Given the description of an element on the screen output the (x, y) to click on. 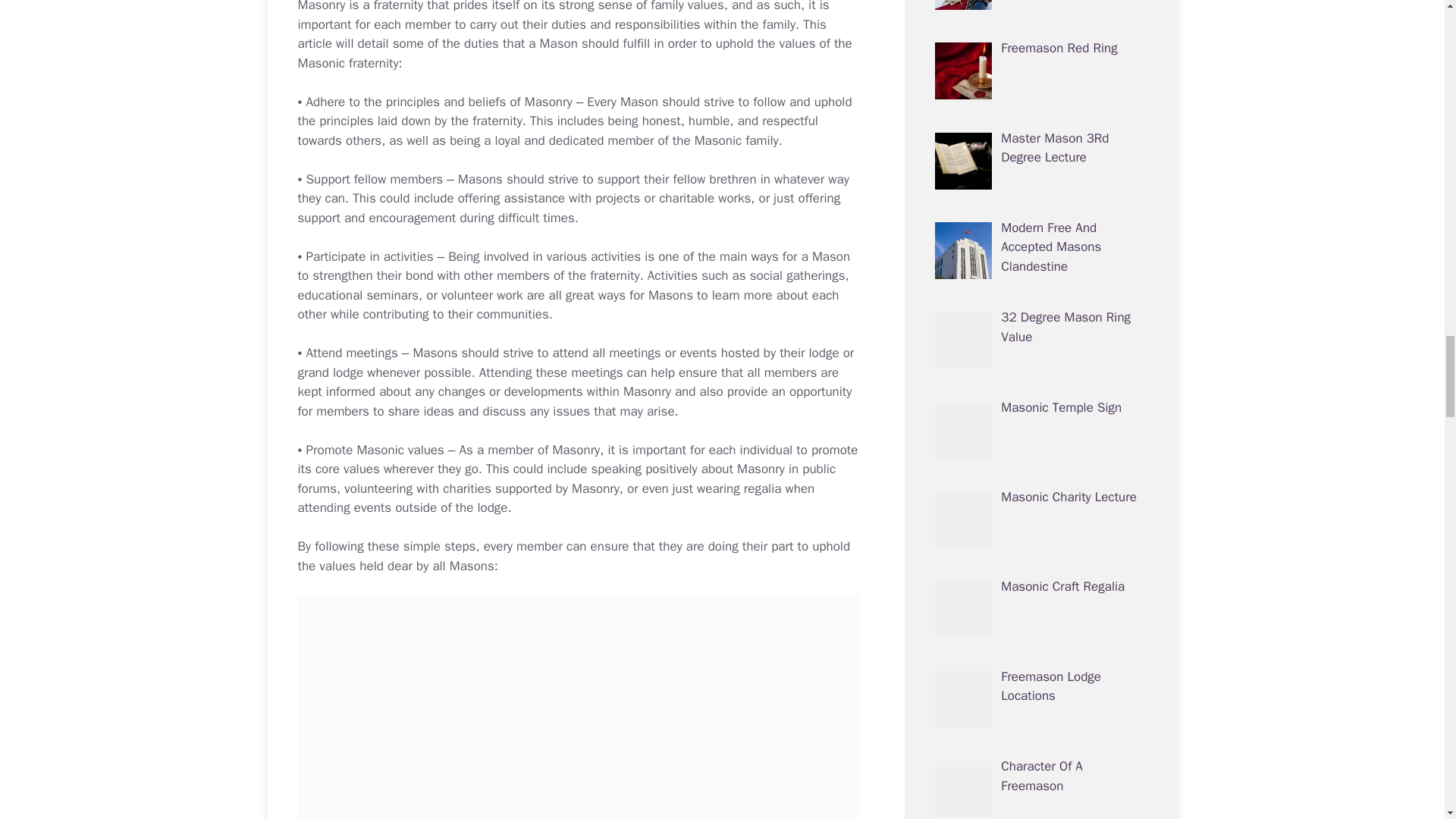
Mason Fraternity Ring (349, 63)
